Given the description of an element on the screen output the (x, y) to click on. 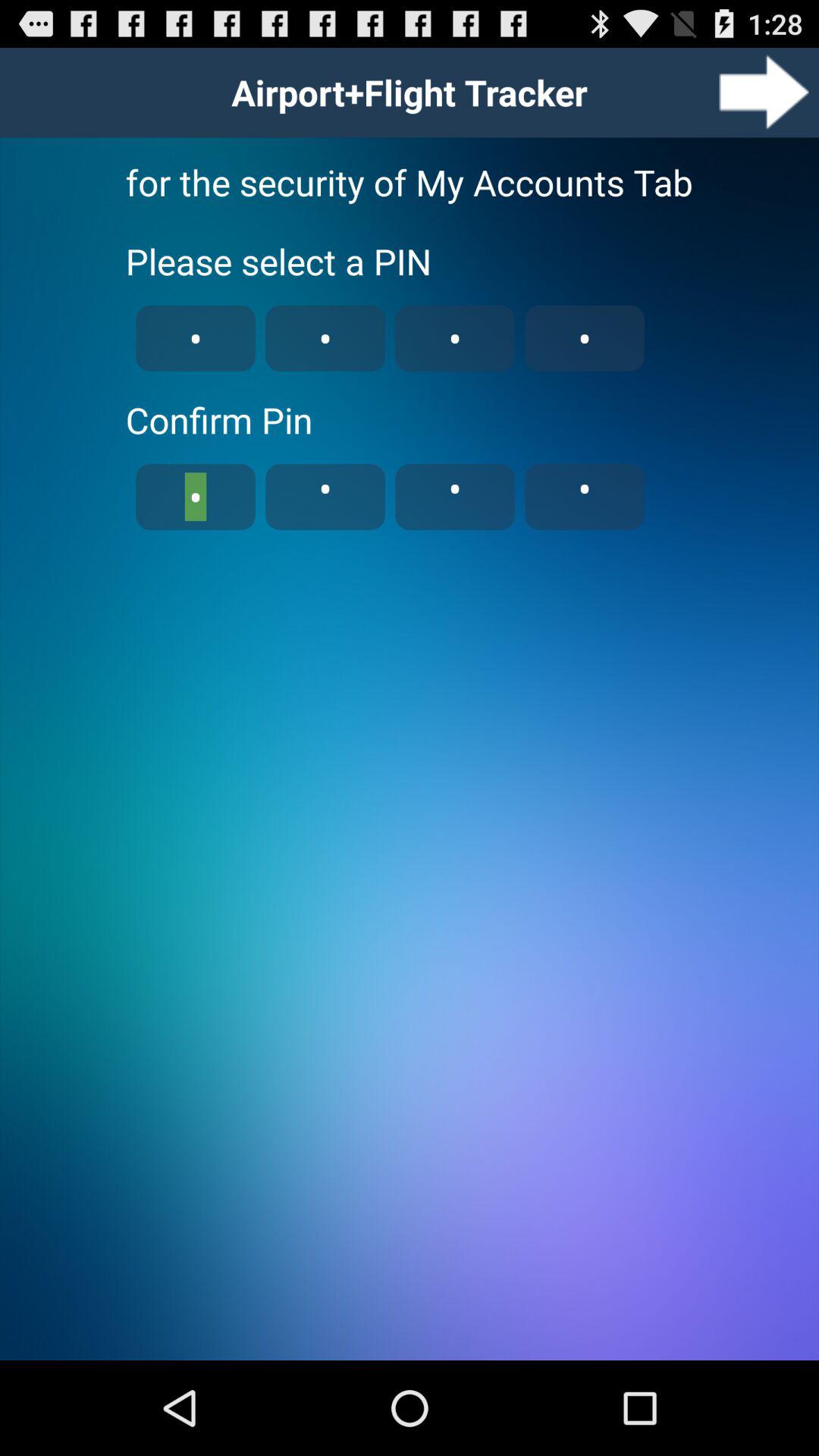
next page (763, 92)
